Given the description of an element on the screen output the (x, y) to click on. 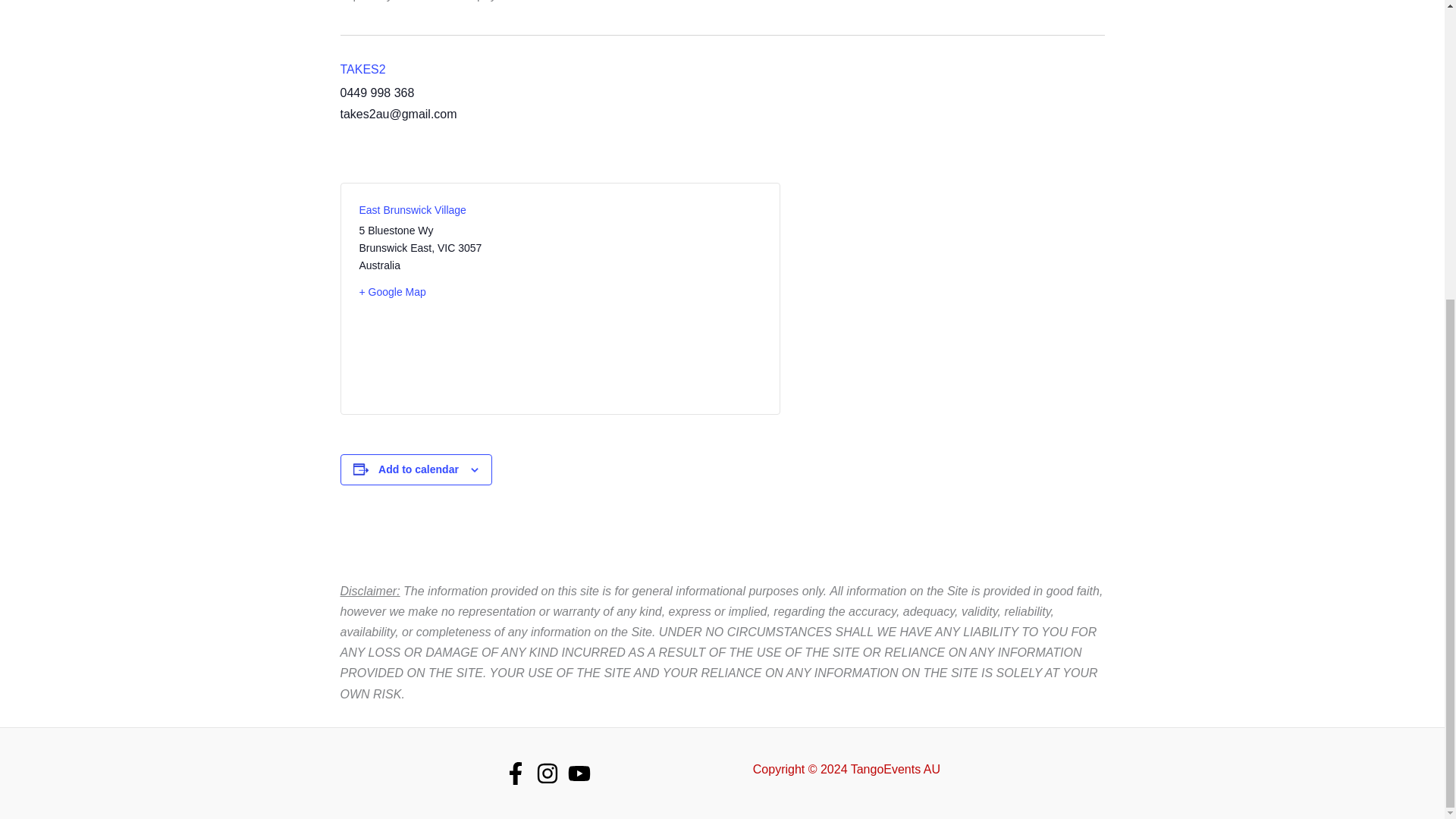
East Brunswick Village (412, 209)
TAKES2 (362, 69)
VIC (446, 247)
Click to view a Google Map (453, 292)
